Given the description of an element on the screen output the (x, y) to click on. 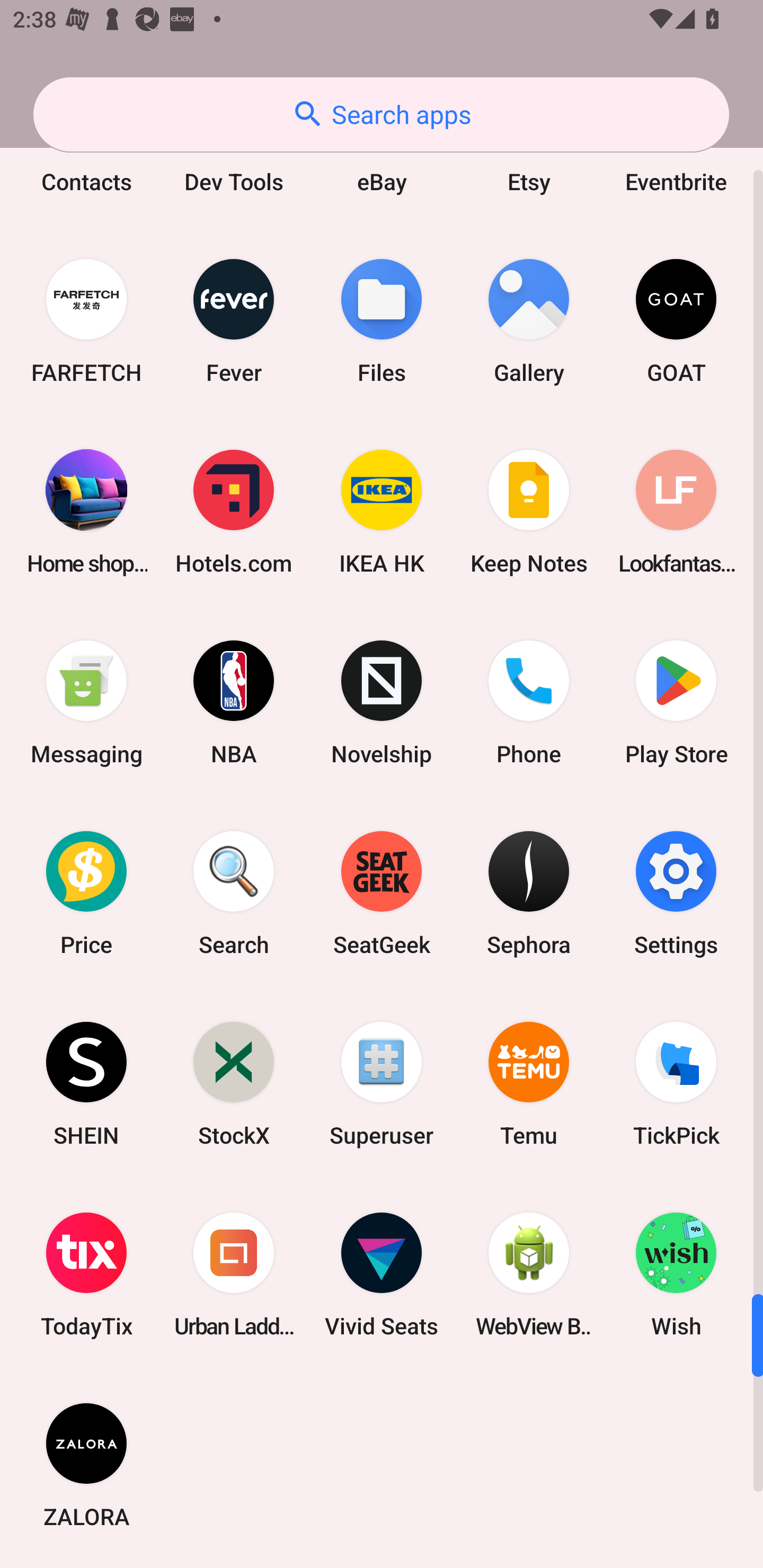
  Search apps (381, 114)
FARFETCH (86, 321)
Fever (233, 321)
Files (381, 321)
Gallery (528, 321)
GOAT (676, 321)
Home shopping (86, 511)
Hotels.com (233, 511)
IKEA HK (381, 511)
Keep Notes (528, 511)
Lookfantastic (676, 511)
Messaging (86, 702)
NBA (233, 702)
Novelship (381, 702)
Phone (528, 702)
Play Store (676, 702)
Price (86, 892)
Search (233, 892)
SeatGeek (381, 892)
Sephora (528, 892)
Settings (676, 892)
SHEIN (86, 1083)
StockX (233, 1083)
Superuser (381, 1083)
Temu (528, 1083)
TickPick (676, 1083)
TodayTix (86, 1274)
Urban Ladder (233, 1274)
Vivid Seats (381, 1274)
WebView Browser Tester (528, 1274)
Wish (676, 1274)
ZALORA (86, 1465)
